Given the description of an element on the screen output the (x, y) to click on. 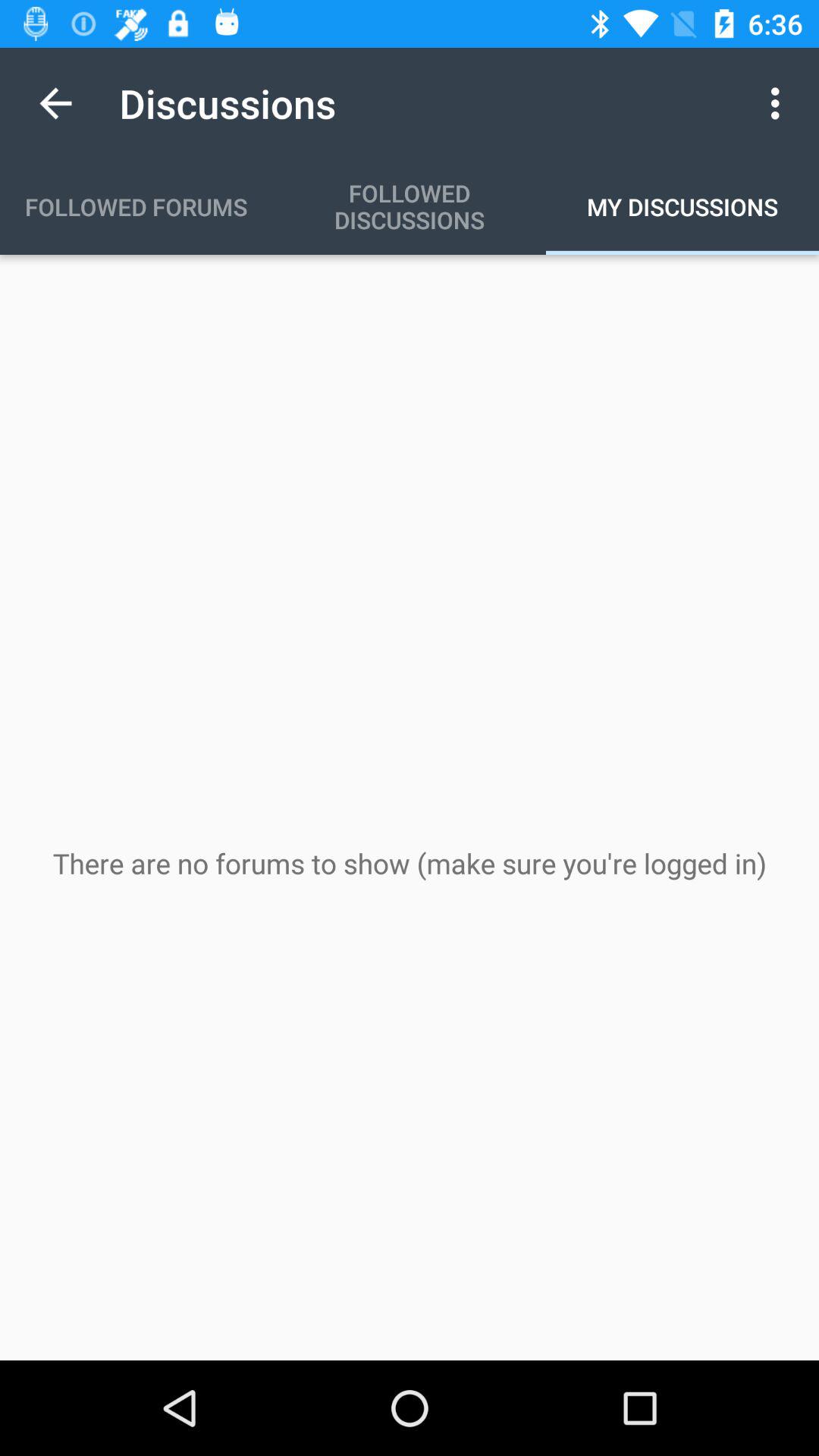
press item next to the discussions (55, 103)
